Given the description of an element on the screen output the (x, y) to click on. 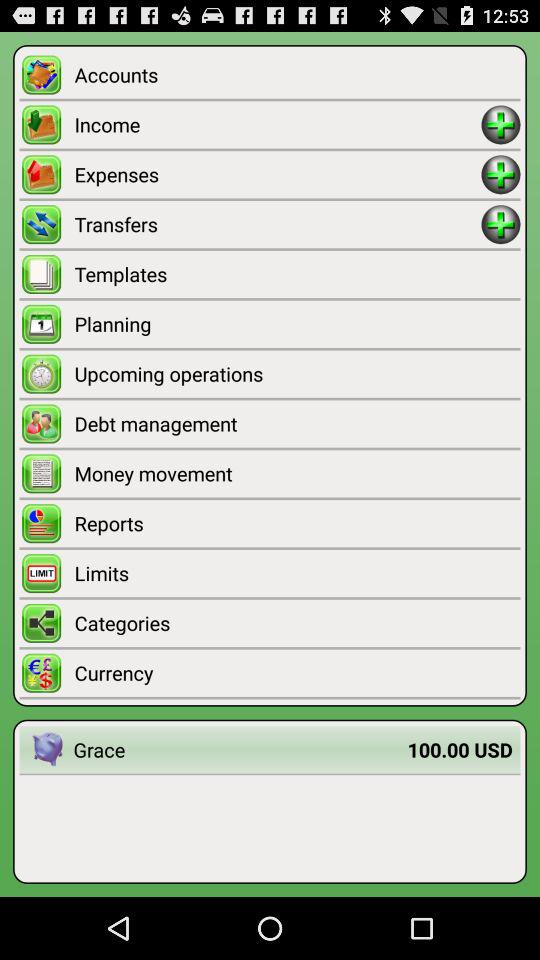
open currency icon (297, 672)
